Given the description of an element on the screen output the (x, y) to click on. 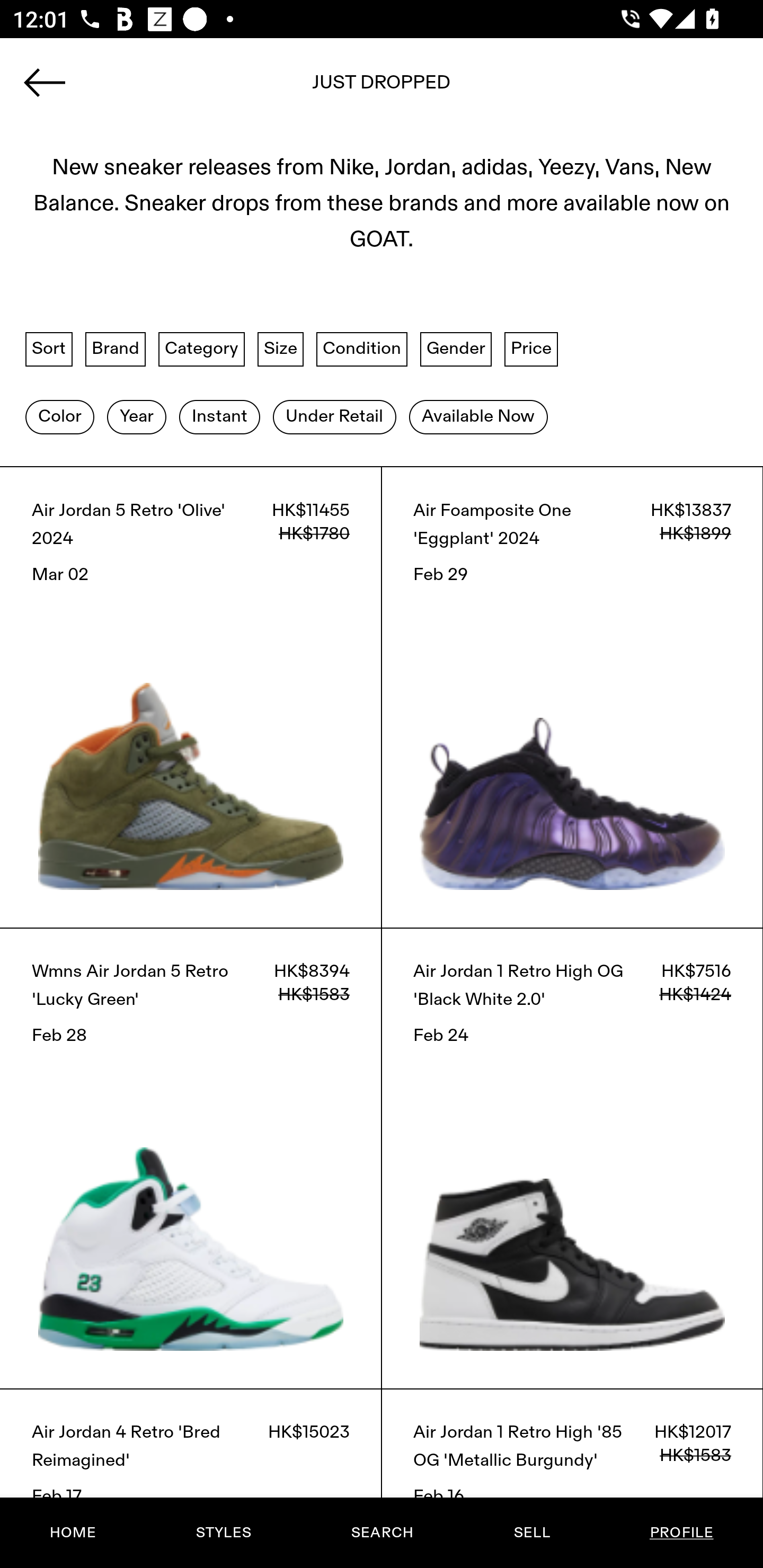
tennis shoes (381, 88)
Wants (381, 184)
Sort (48, 348)
Brand (115, 348)
Category (201, 348)
Size (280, 348)
Condition (361, 348)
Gender (455, 348)
Price (530, 348)
Color (59, 416)
Year (136, 416)
Instant (219, 416)
Under Retail (334, 416)
Available Now (477, 416)
HOME (72, 1532)
STYLES (222, 1532)
SEARCH (381, 1532)
SELL (531, 1532)
PROFILE (681, 1532)
